Given the description of an element on the screen output the (x, y) to click on. 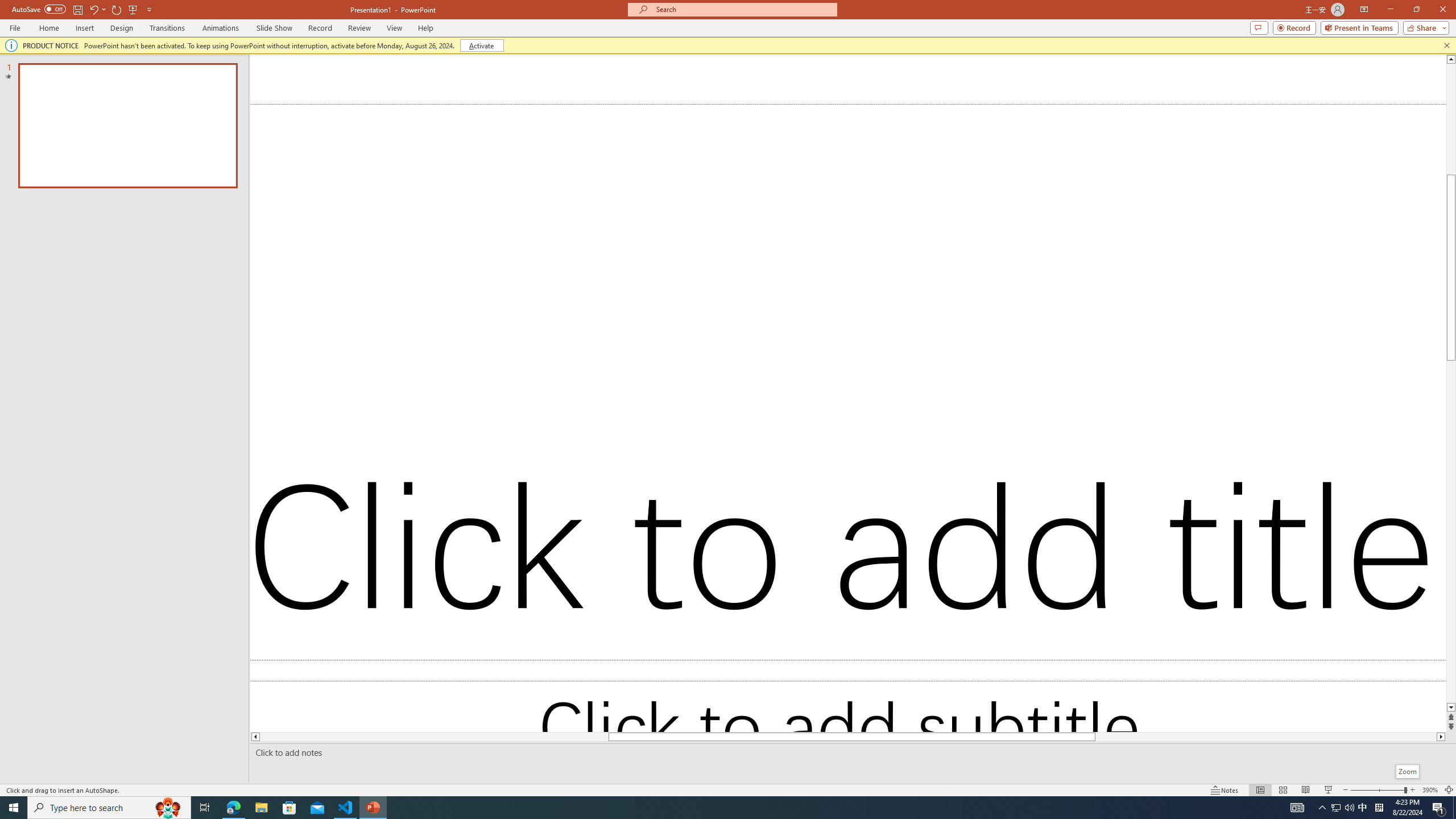
Activate (481, 45)
